Given the description of an element on the screen output the (x, y) to click on. 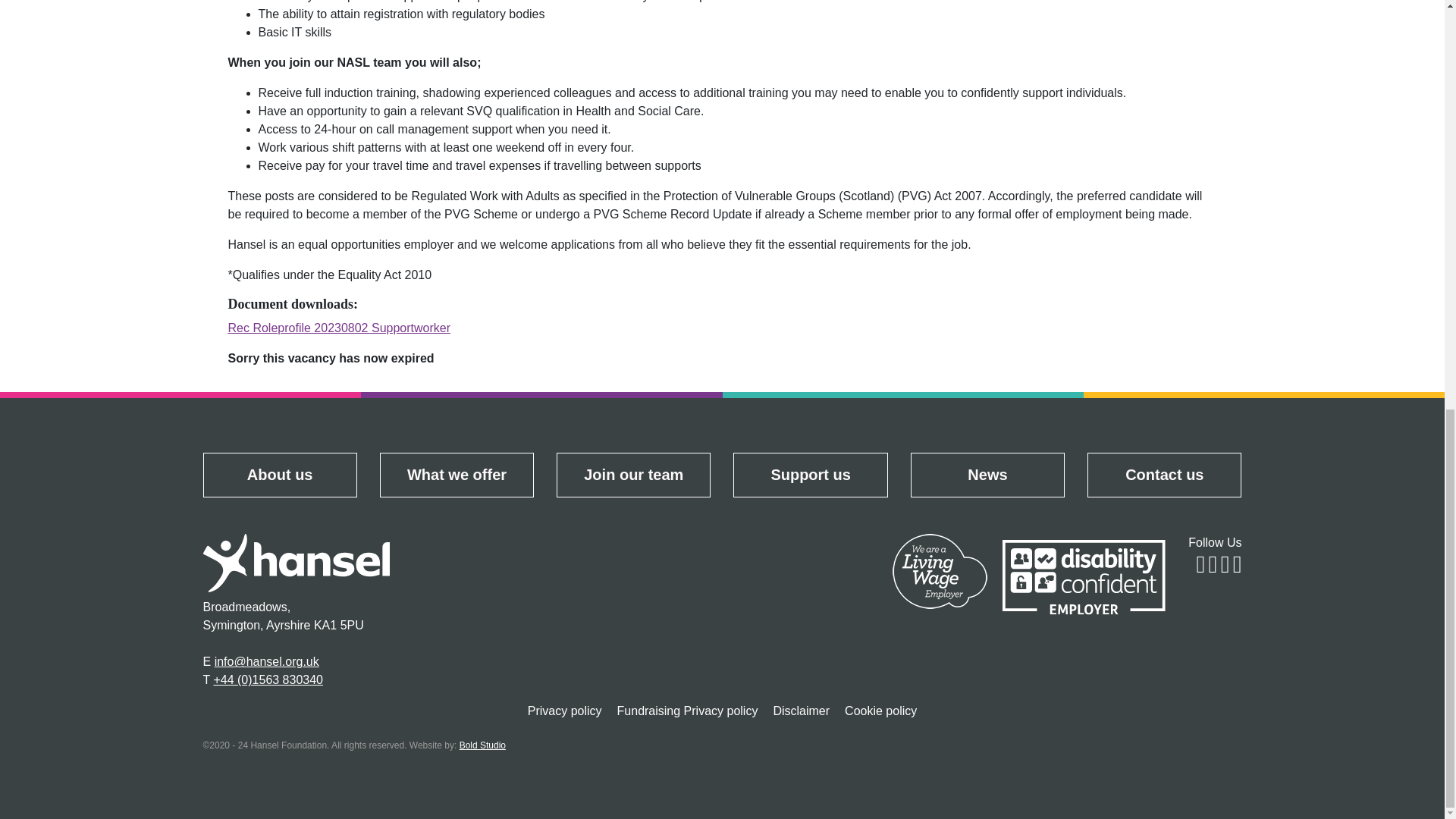
Join our team (633, 474)
Bold Studio (482, 745)
Contact us (1163, 474)
Cookie policy (880, 710)
Privacy policy (564, 710)
Fundraising Privacy policy (687, 710)
News (987, 474)
What we offer (456, 474)
Rec Roleprofile 20230802 Supportworker (338, 327)
Support us (809, 474)
Disclaimer (801, 710)
About us (279, 474)
